Given the description of an element on the screen output the (x, y) to click on. 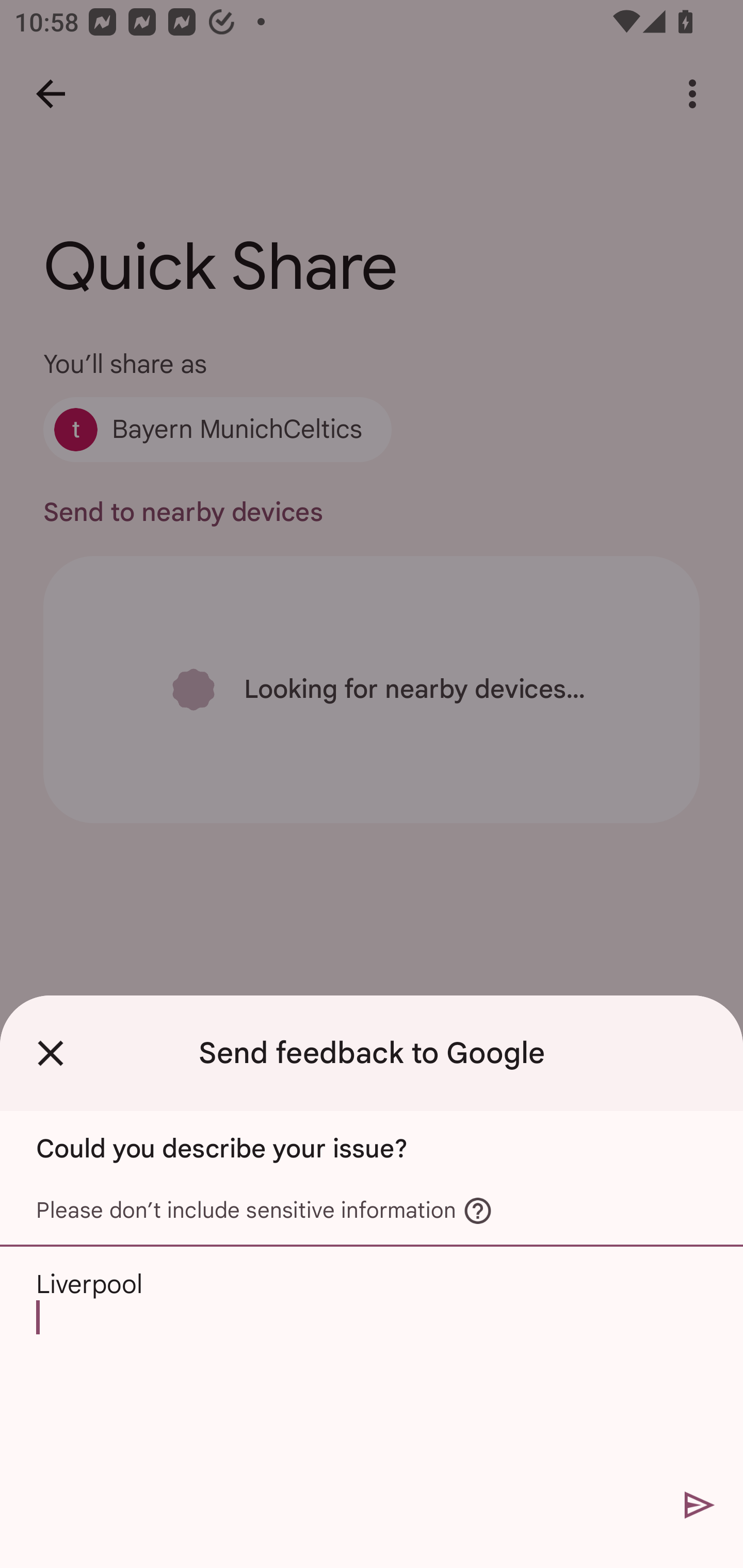
Close Feedback (50, 1052)
Liverpool
 (371, 1362)
Submit the feedback that you entered (699, 1504)
